Given the description of an element on the screen output the (x, y) to click on. 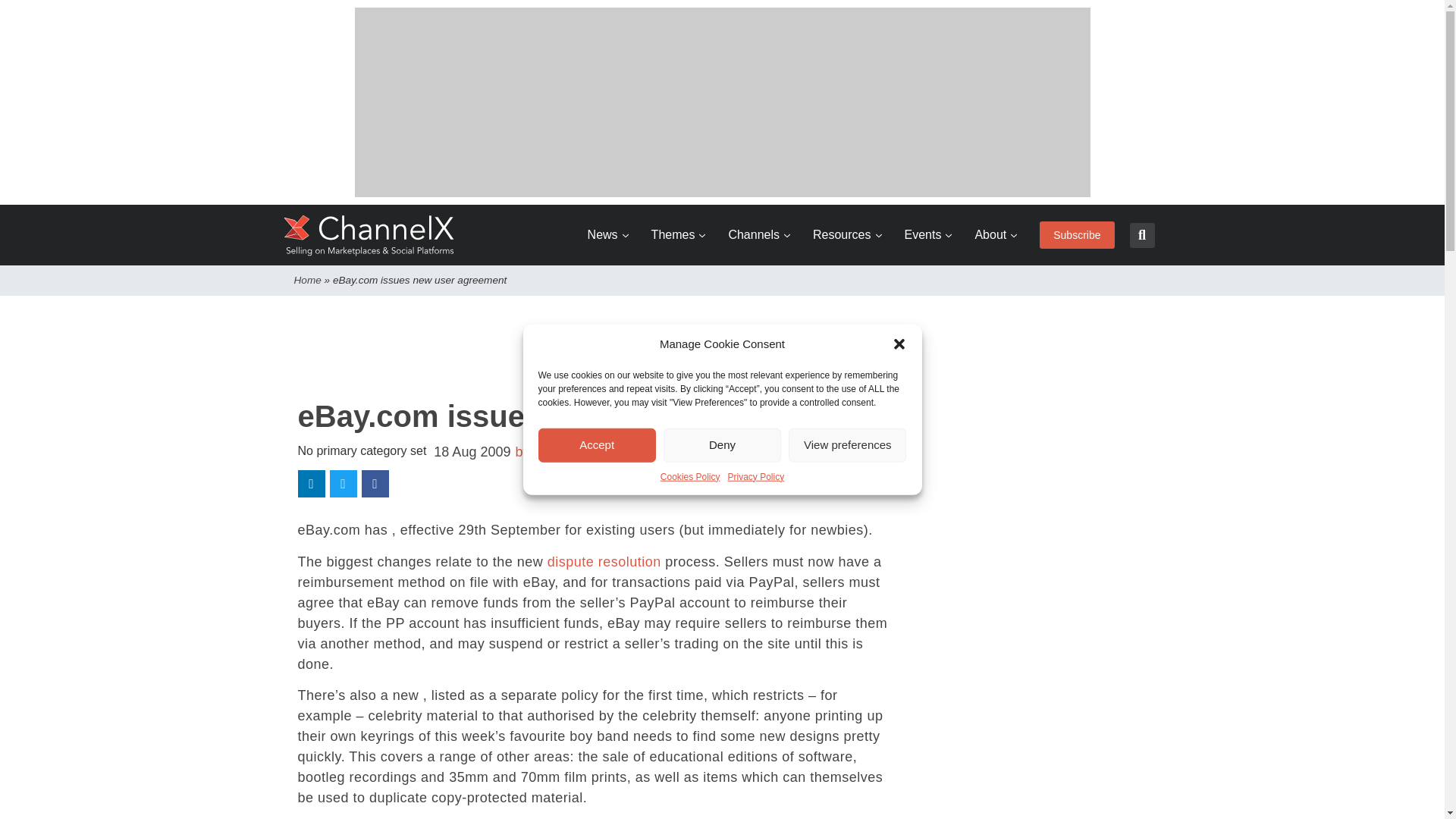
View preferences (847, 444)
Cookies Policy (690, 476)
Accept (597, 444)
News (607, 234)
ChannelX Home Page (369, 234)
Deny (721, 444)
Themes (678, 234)
Privacy Policy (756, 476)
Channels (758, 234)
